Given the description of an element on the screen output the (x, y) to click on. 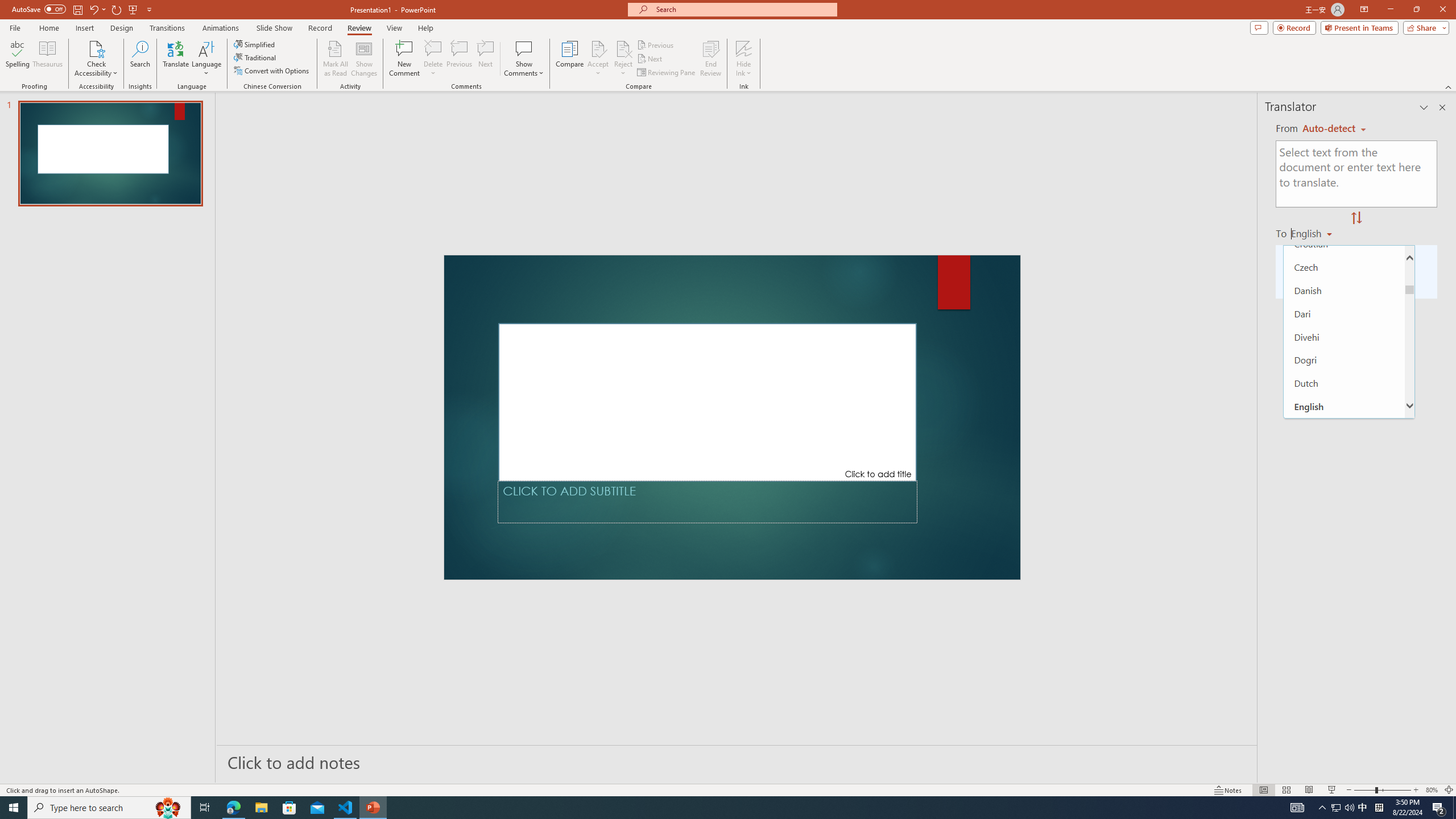
Dari (1344, 313)
Catalan (1344, 126)
Haitian Creole (1344, 732)
Hebrew (1344, 779)
Slide Notes (737, 761)
Subtitle TextBox (707, 501)
Reviewing Pane (666, 72)
Galician (1344, 592)
Filipino (1344, 499)
